Given the description of an element on the screen output the (x, y) to click on. 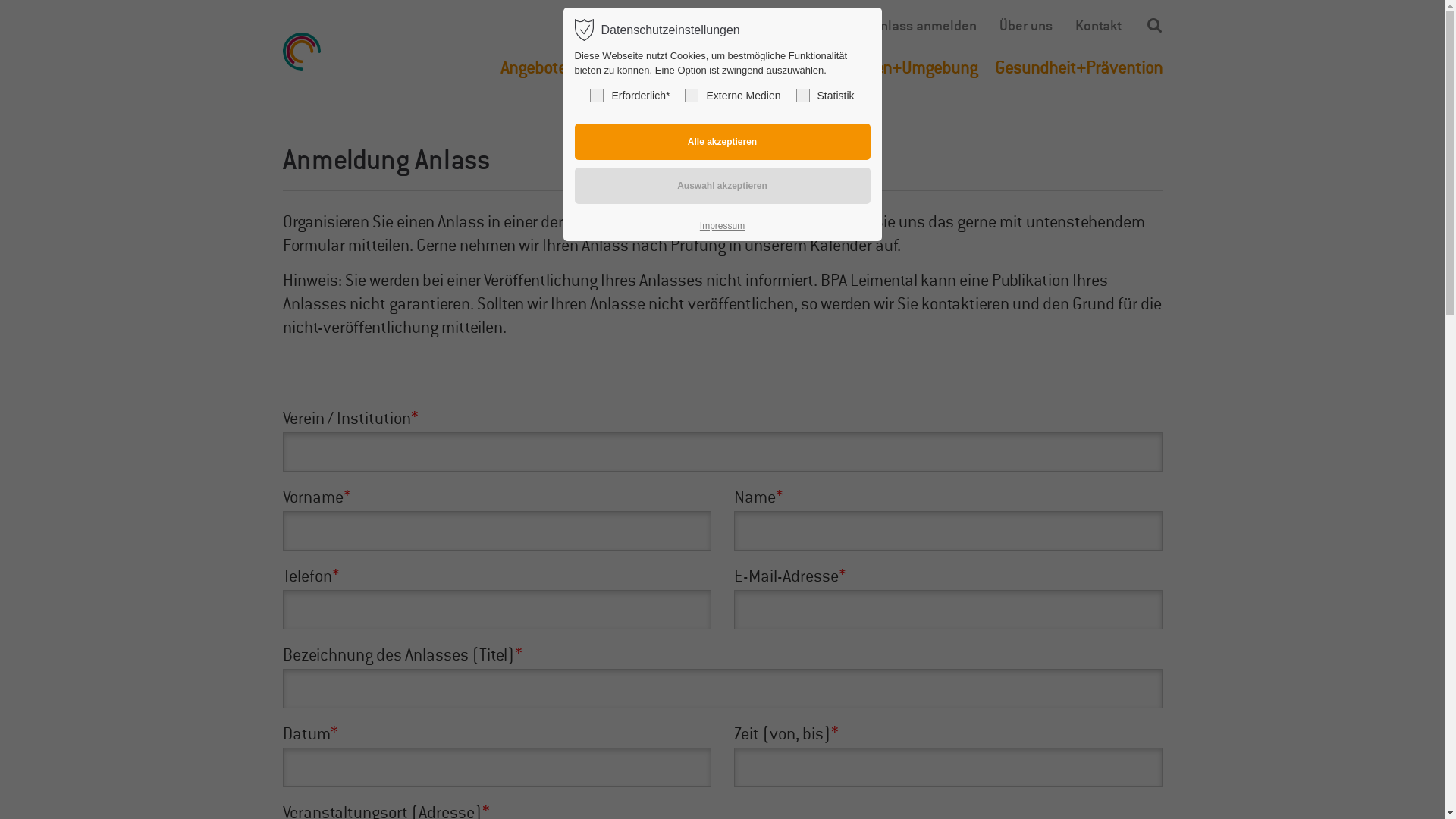
Betreuung+Pflege Element type: text (754, 68)
Alle akzeptieren Element type: text (722, 141)
Impressum Element type: text (721, 226)
Auswahl akzeptieren Element type: text (722, 185)
Anlass anmelden Element type: text (924, 25)
Wohnen+Umgebung Element type: text (905, 68)
Angebote Element type: text (533, 68)
Kontakt Element type: text (1098, 25)
Termin vereinbaren Element type: text (792, 25)
Finanzierung Element type: text (628, 68)
